Given the description of an element on the screen output the (x, y) to click on. 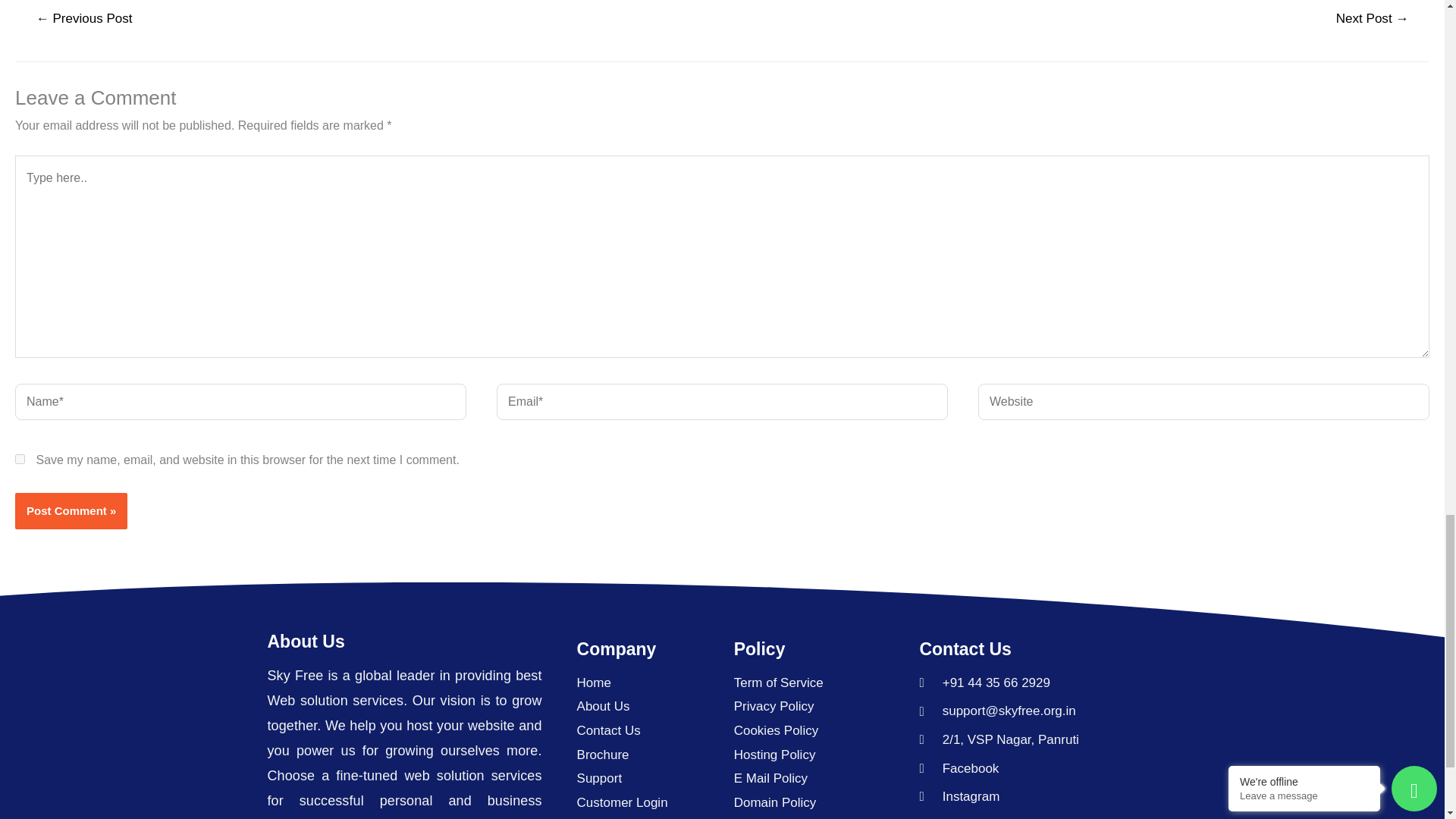
yes (19, 459)
